Given the description of an element on the screen output the (x, y) to click on. 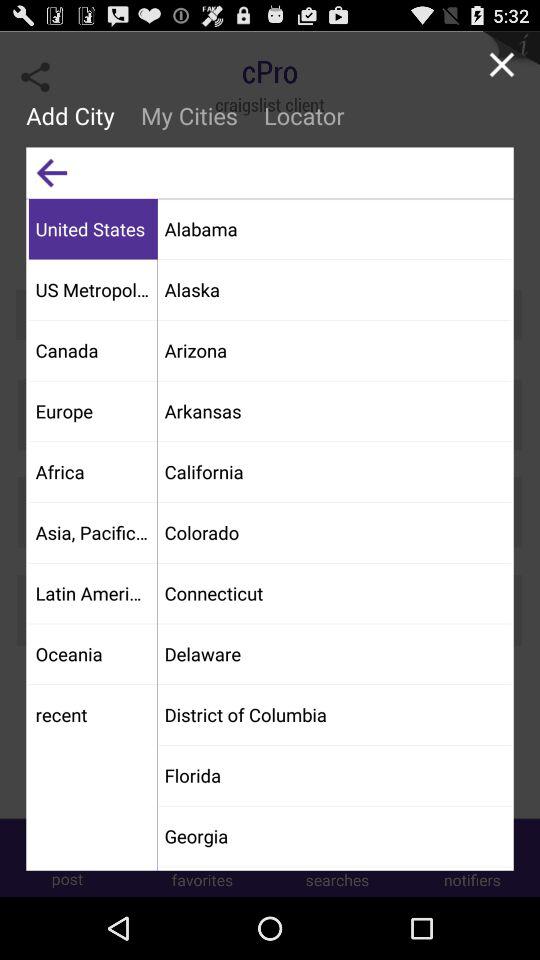
select district of columbia icon (334, 714)
